Given the description of an element on the screen output the (x, y) to click on. 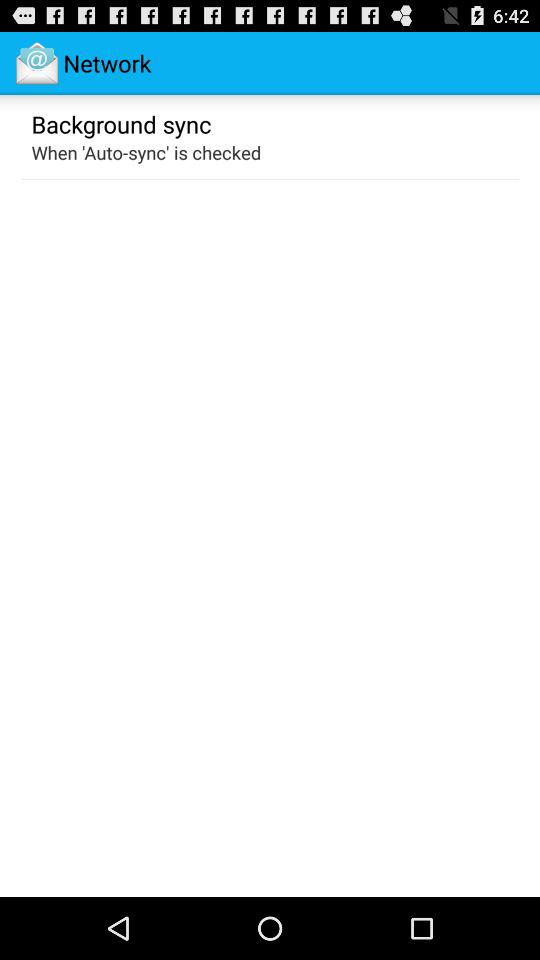
select the item above when auto sync (121, 123)
